Given the description of an element on the screen output the (x, y) to click on. 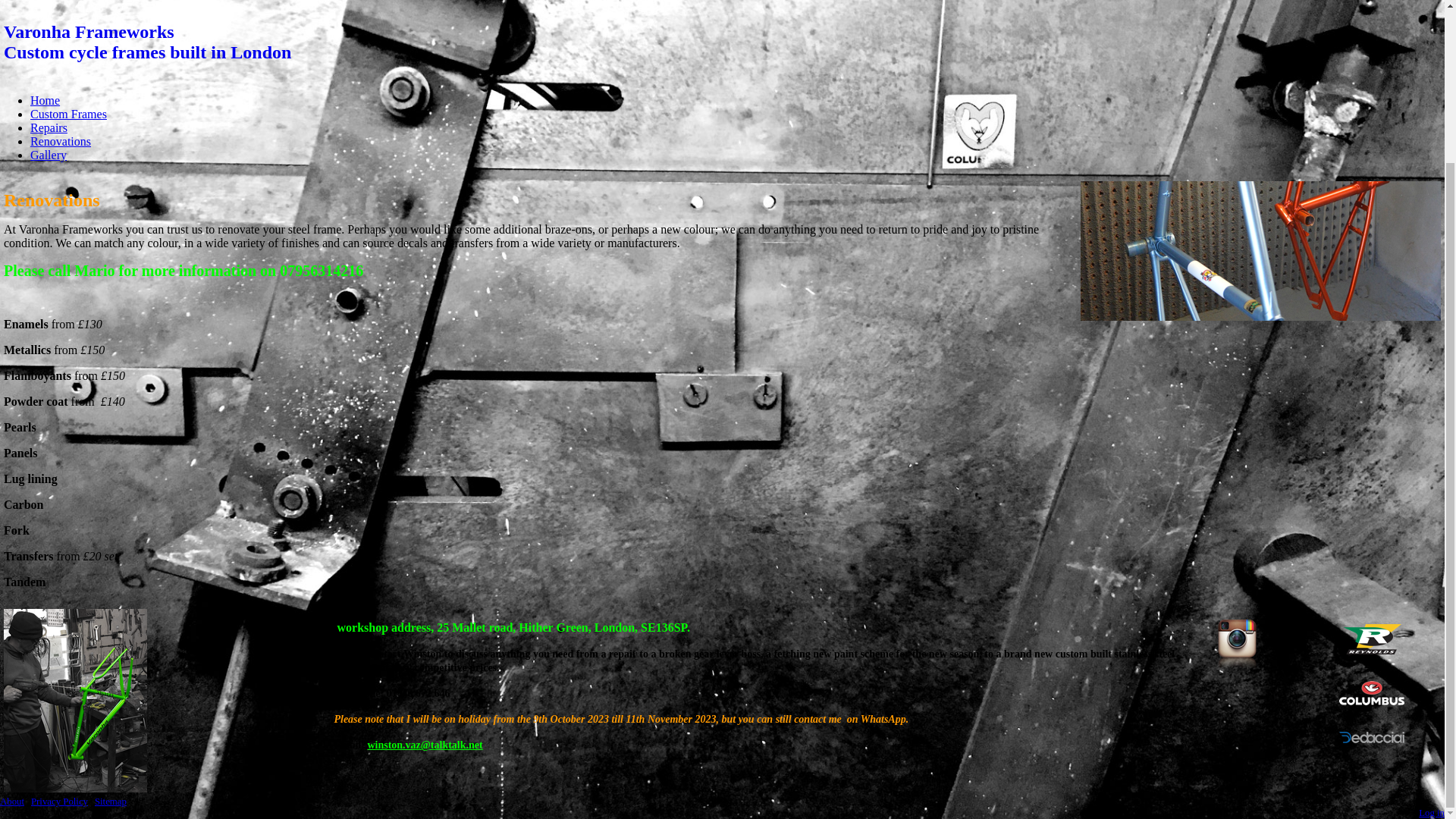
Sitemap (110, 801)
Repairs (722, 42)
Home (48, 127)
About (44, 100)
Privacy Policy (12, 801)
Renovations (58, 801)
Gallery (60, 141)
Custom Frames (48, 154)
